Given the description of an element on the screen output the (x, y) to click on. 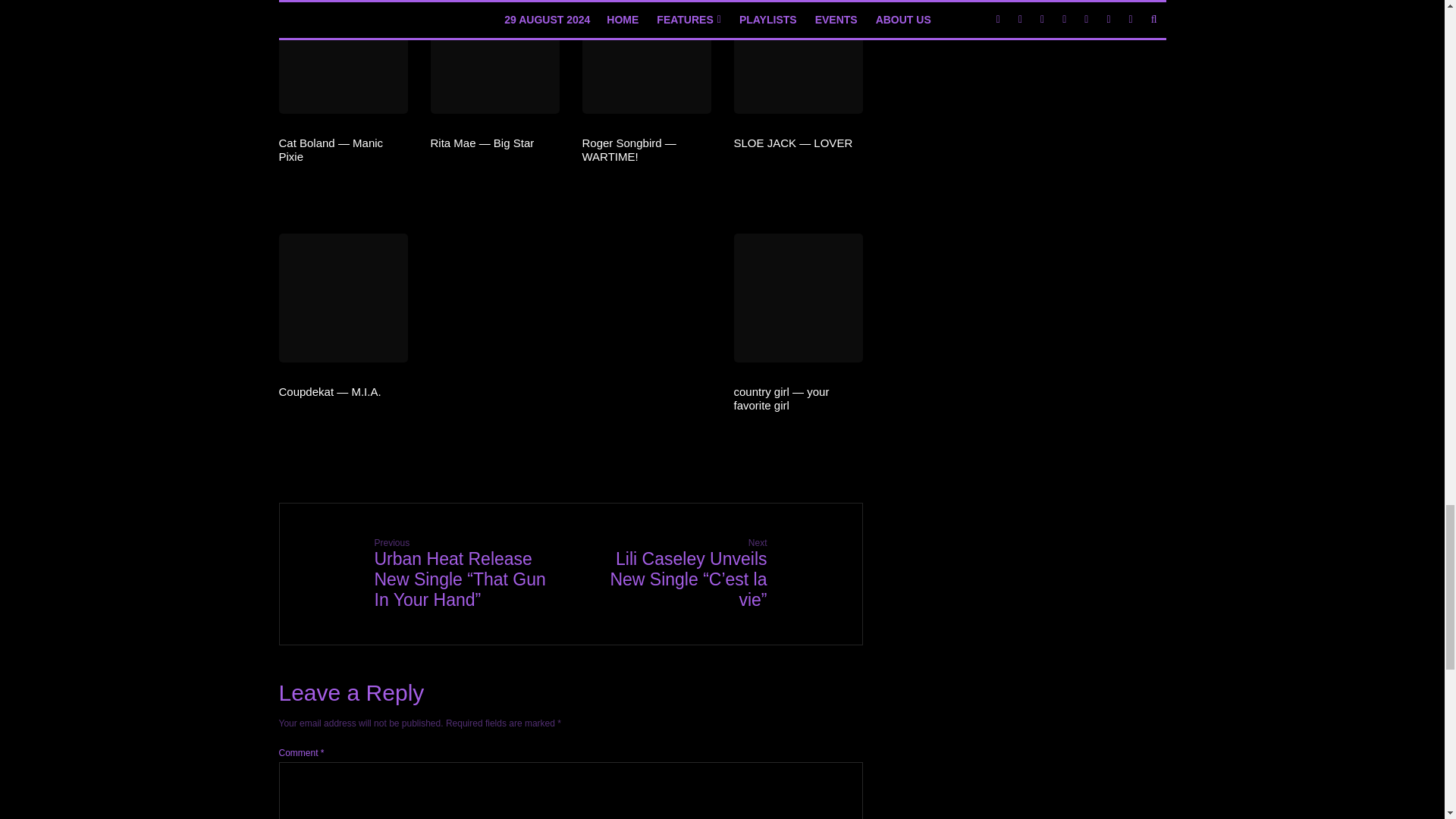
sloe jack 1 (798, 56)
roger songbird (646, 56)
cat boland (343, 56)
rita mae 2 (494, 56)
coupdekat (343, 297)
